Given the description of an element on the screen output the (x, y) to click on. 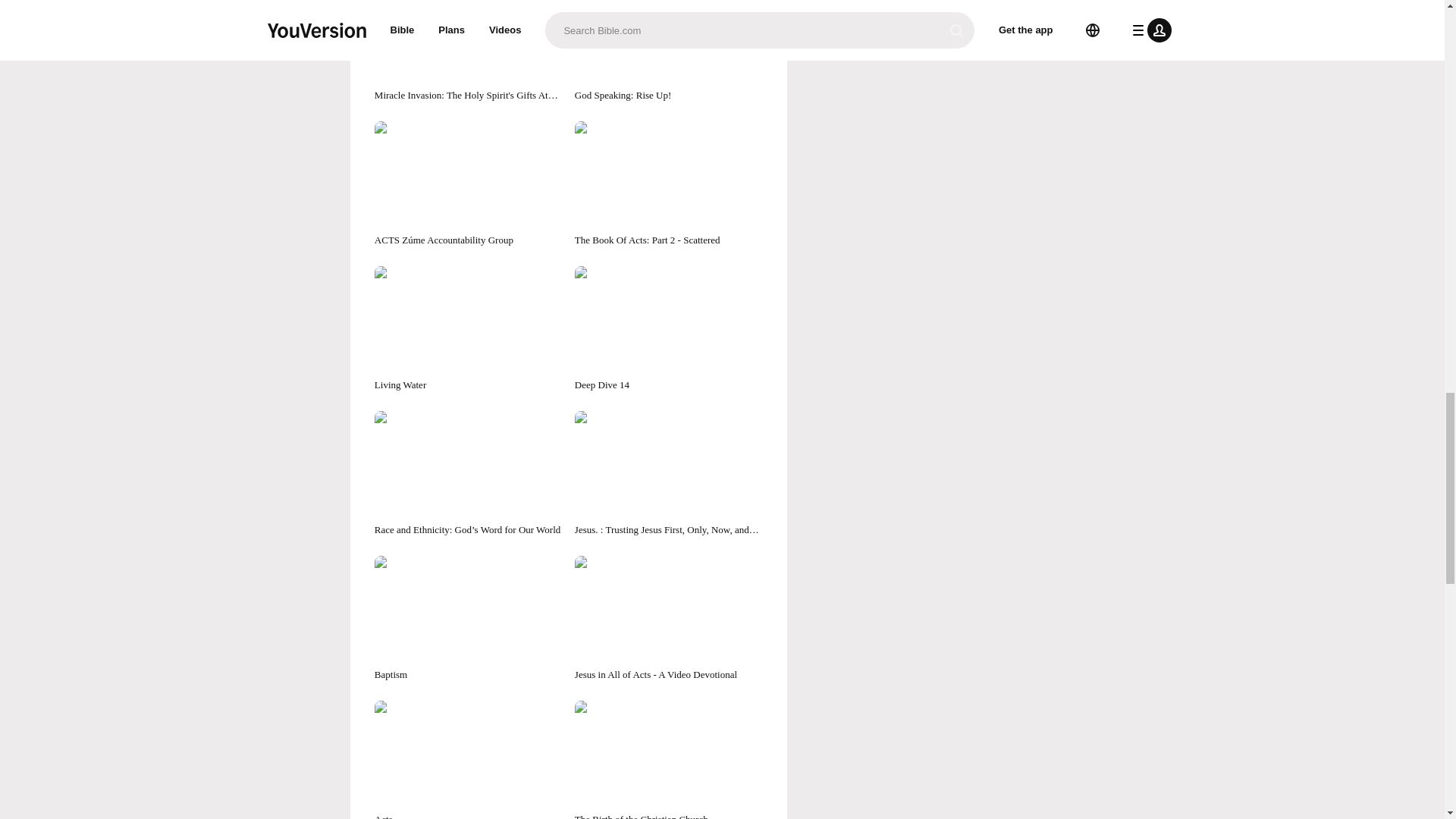
Miracle Invasion: The Holy Spirit's Gifts At Work Today (468, 51)
Jesus. : Trusting Jesus First, Only, Now, and Always (668, 474)
Baptism (468, 619)
Living Water (468, 329)
God Speaking: Rise Up! (668, 51)
Deep Dive 14 (668, 329)
The Book Of Acts: Part 2 - Scattered (668, 184)
